Given the description of an element on the screen output the (x, y) to click on. 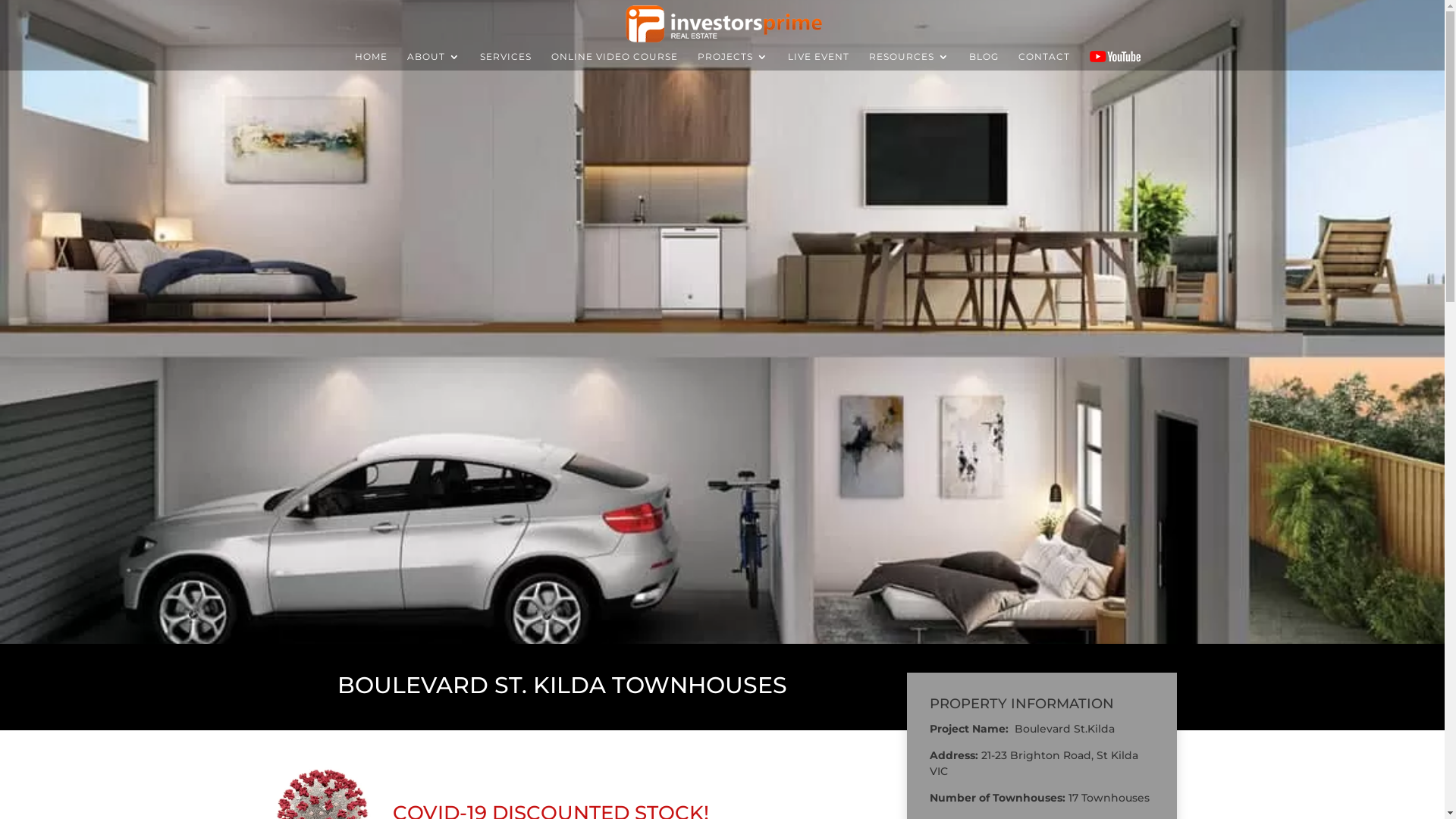
ABOUT Element type: text (433, 60)
HOME Element type: text (370, 60)
ONLINE VIDEO COURSE Element type: text (614, 60)
YOUTUBE Element type: text (1114, 56)
BLOG Element type: text (983, 60)
RESOURCES Element type: text (909, 60)
SERVICES Element type: text (505, 60)
CONTACT Element type: text (1044, 60)
PROJECTS Element type: text (732, 60)
LIVE EVENT Element type: text (818, 60)
